Given the description of an element on the screen output the (x, y) to click on. 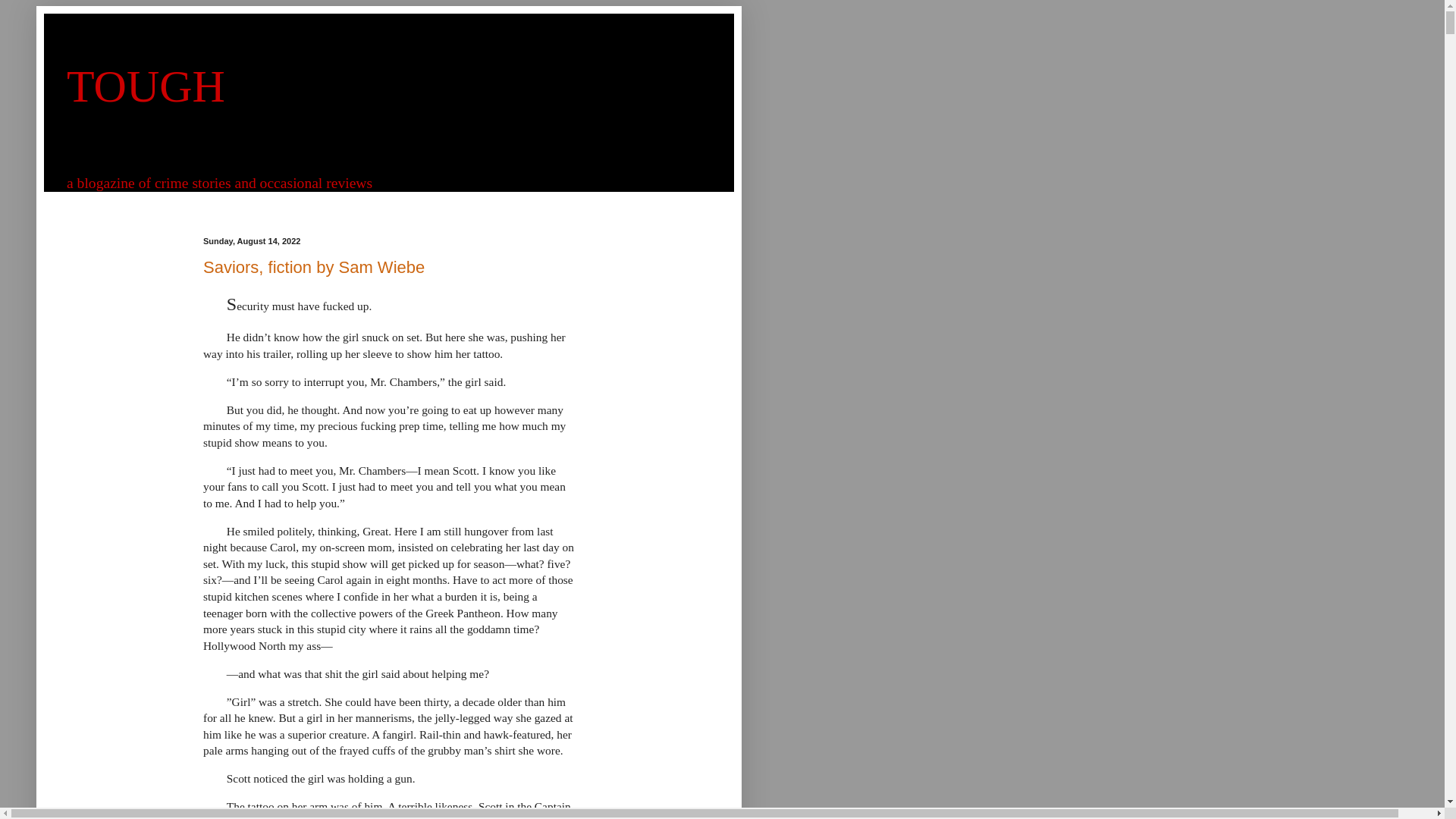
Saviors, fiction by Sam Wiebe (314, 266)
TOUGH (145, 86)
